Given the description of an element on the screen output the (x, y) to click on. 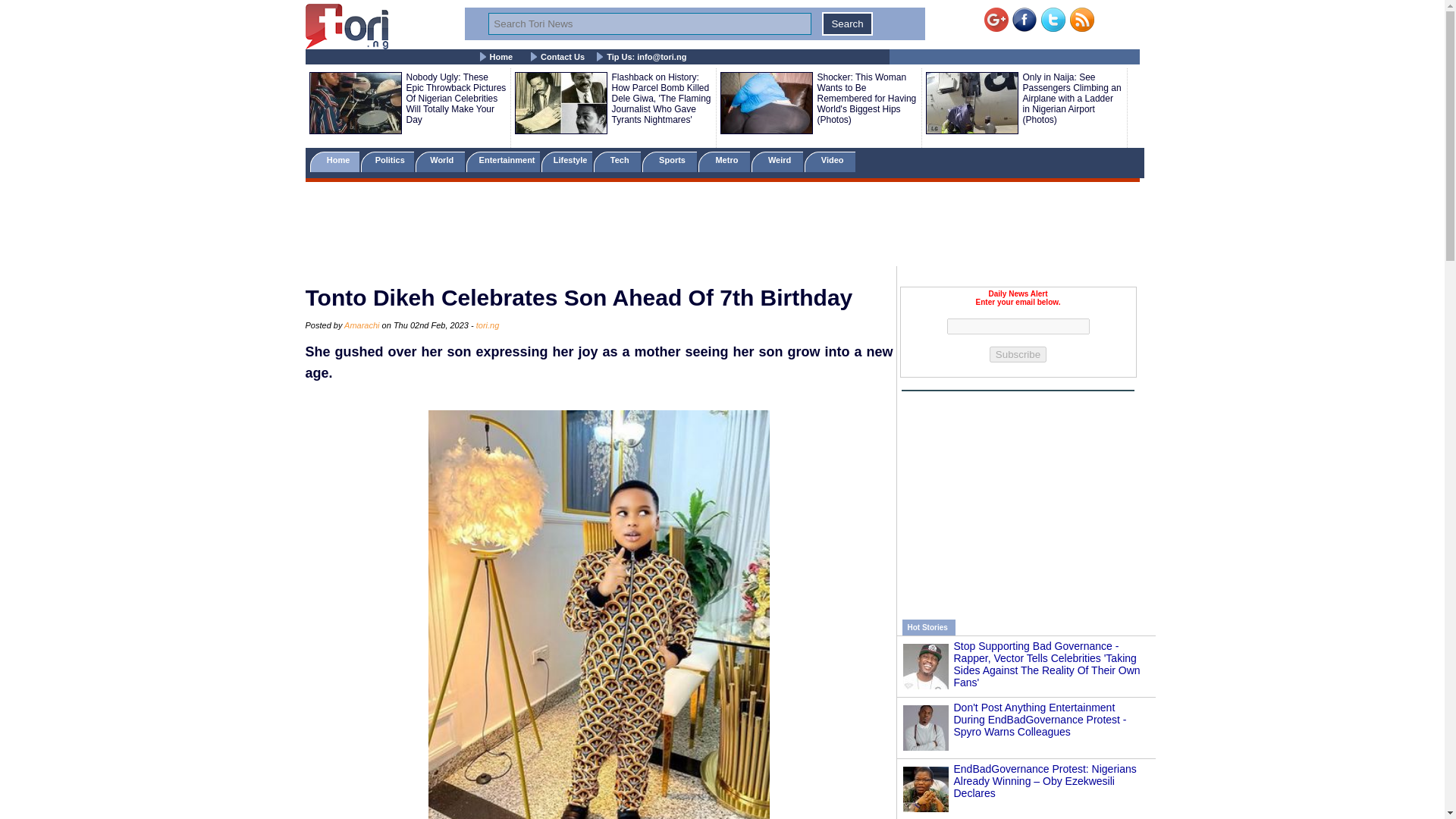
Home (501, 56)
   World      (439, 161)
  Entertainment   (501, 161)
Click To Search (847, 24)
    Sports      (669, 161)
Search Tori News (648, 24)
    Video      (830, 161)
    Tech      (617, 161)
    Weird      (777, 161)
Contact Us (562, 56)
Search (847, 24)
